Given the description of an element on the screen output the (x, y) to click on. 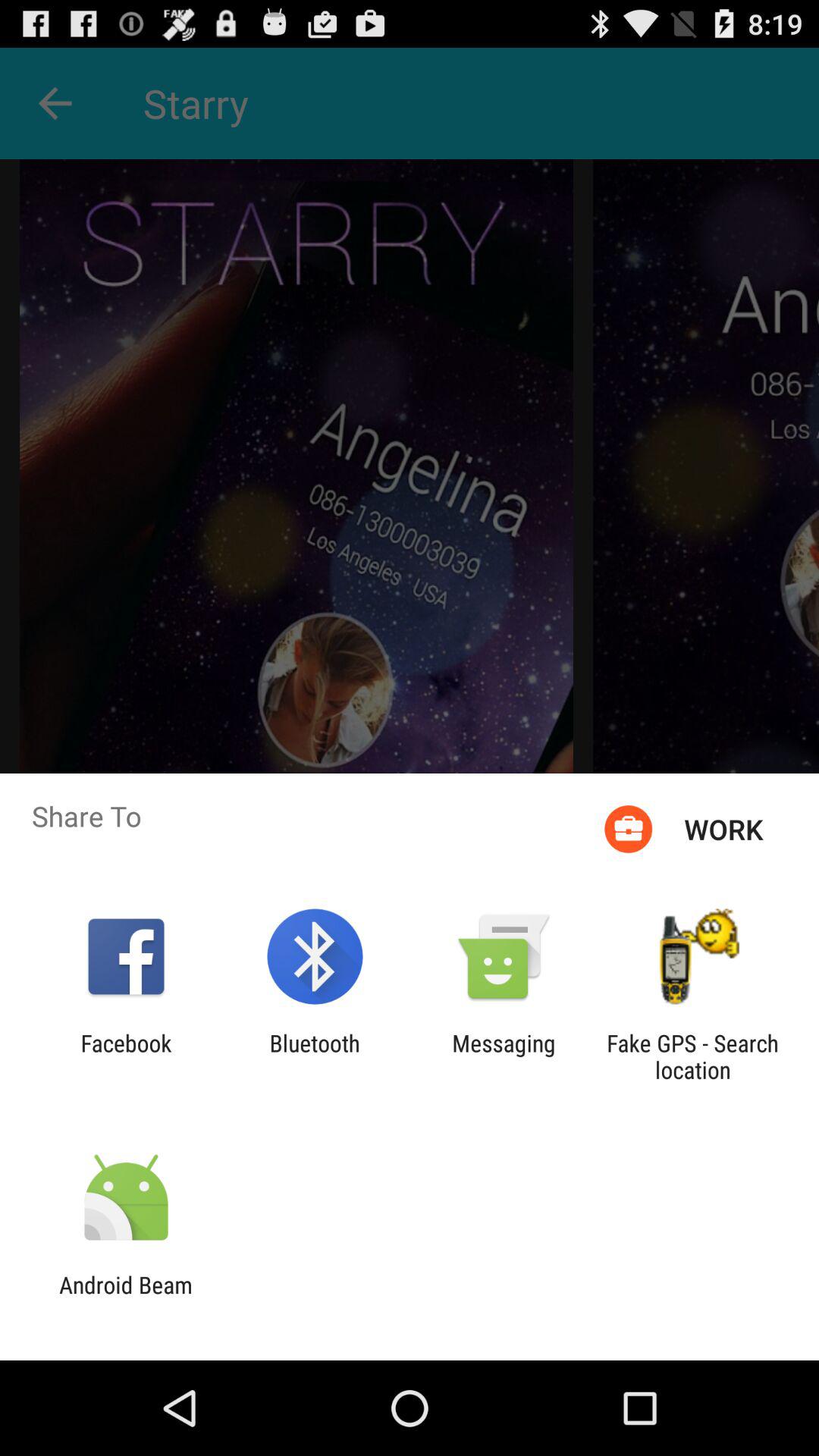
press the icon to the right of bluetooth item (503, 1056)
